Given the description of an element on the screen output the (x, y) to click on. 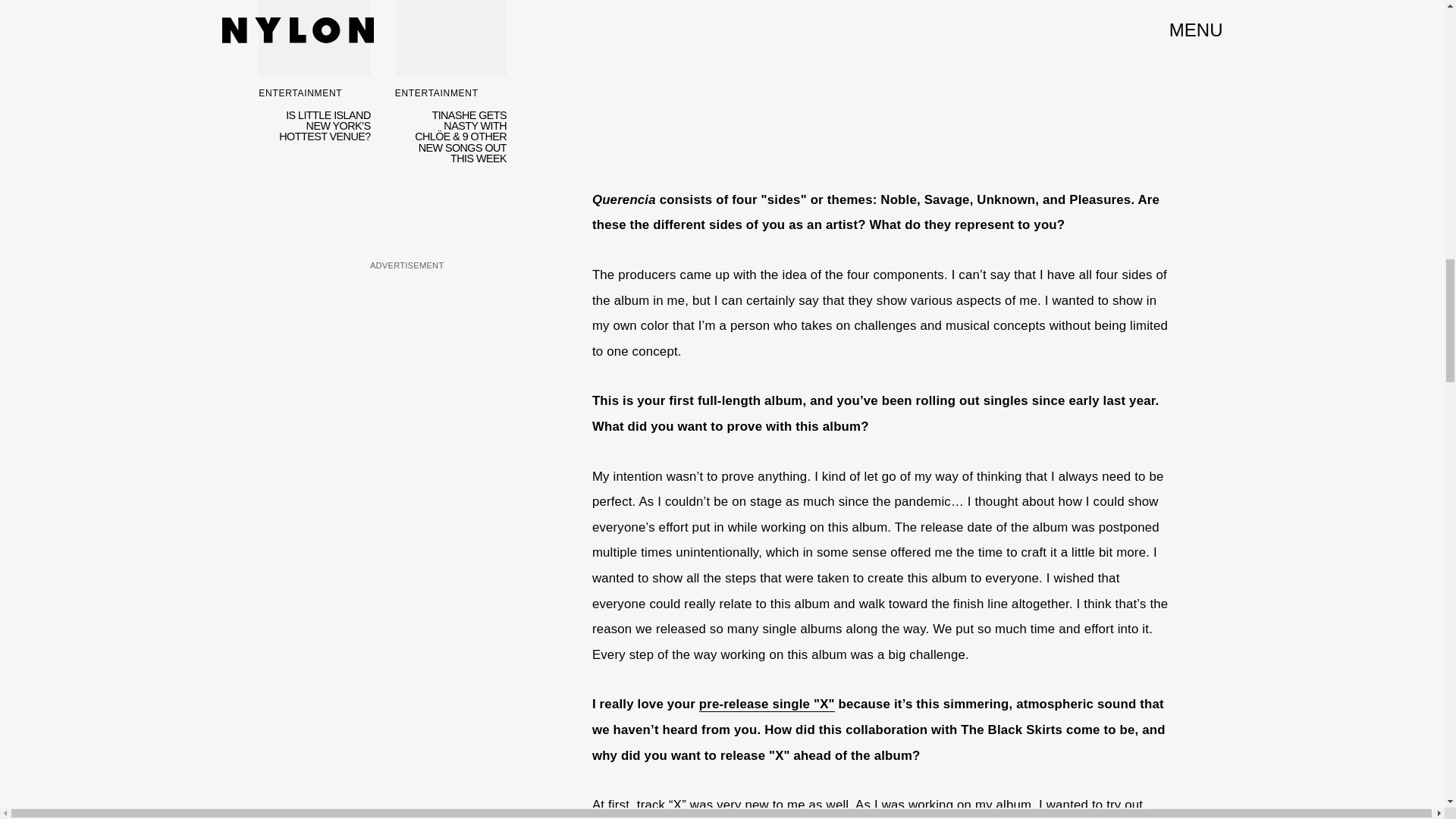
pre-release single "X" (766, 703)
